Given the description of an element on the screen output the (x, y) to click on. 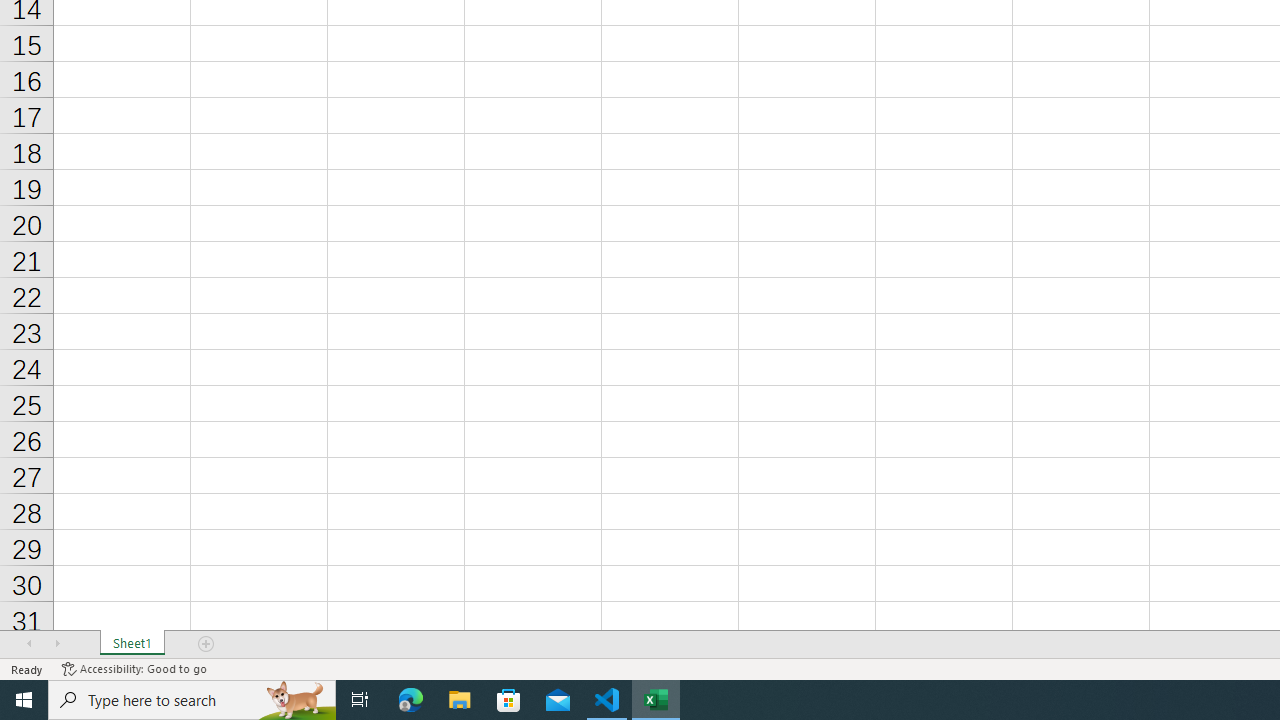
Scroll Left (29, 644)
Sheet1 (132, 644)
Scroll Right (57, 644)
Add Sheet (207, 644)
Accessibility Checker Accessibility: Good to go (134, 668)
